Given the description of an element on the screen output the (x, y) to click on. 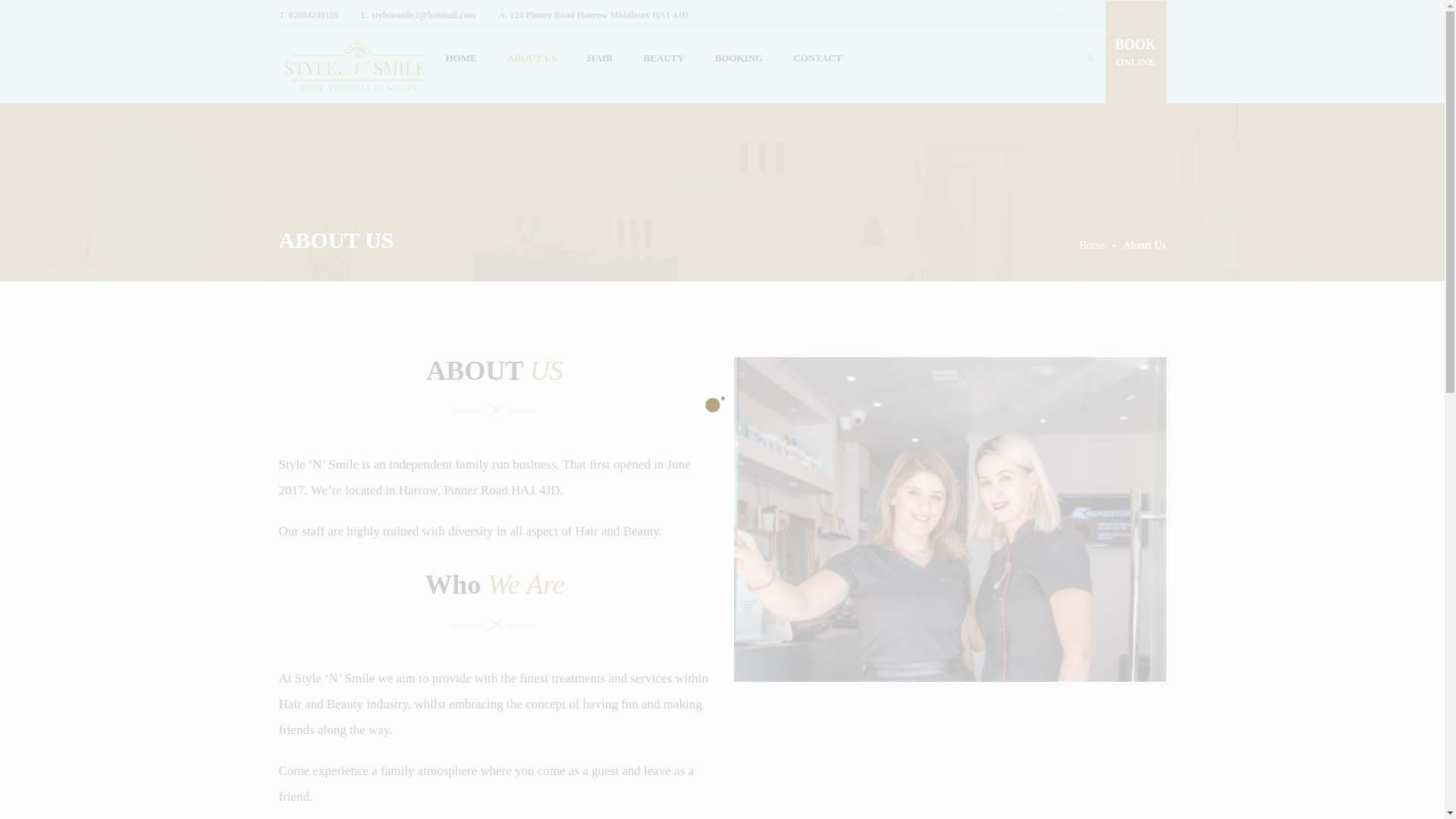
About Us (1144, 244)
HAIR (600, 57)
02084249119 (312, 14)
StylenSmile -  (354, 66)
BOOKING (739, 57)
Home (1100, 244)
BEAUTY (662, 57)
BOOK ONLINE (1135, 53)
ABOUT US (532, 57)
HOME (461, 57)
CONTACT (817, 57)
Home (1100, 244)
